Given the description of an element on the screen output the (x, y) to click on. 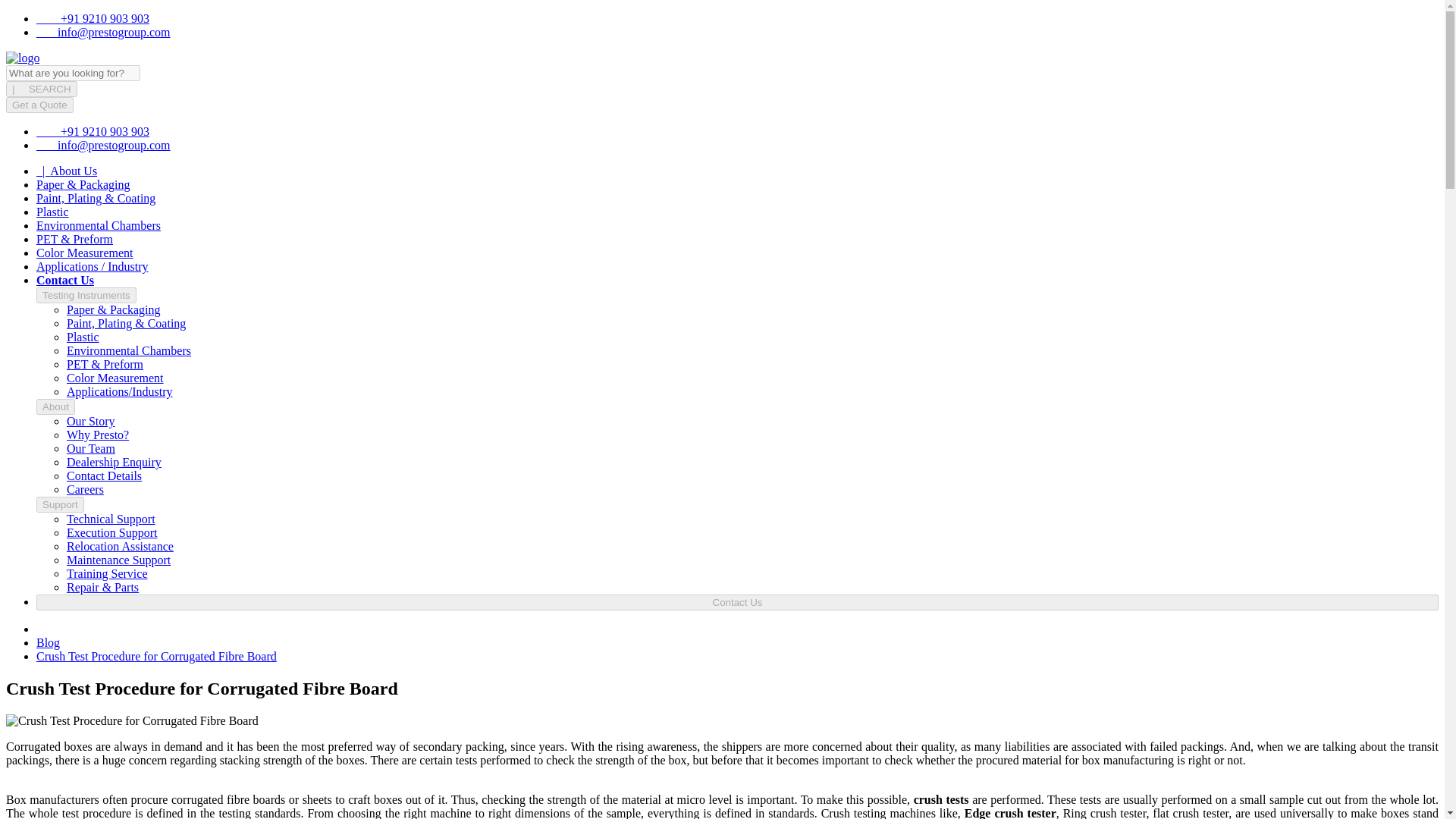
Dealership Enquiry (113, 461)
Execution Support (111, 532)
Our Story (90, 420)
Training Service (107, 573)
Careers (84, 489)
Maintenance Support (118, 559)
Why Presto? (97, 434)
Technical Support (110, 518)
Contact Us (65, 279)
Contact Details (103, 475)
Environmental Chambers (98, 225)
Get a Quote (39, 105)
Plastic (52, 211)
Environmental Chambers (128, 350)
Relocation Assistance (119, 545)
